Given the description of an element on the screen output the (x, y) to click on. 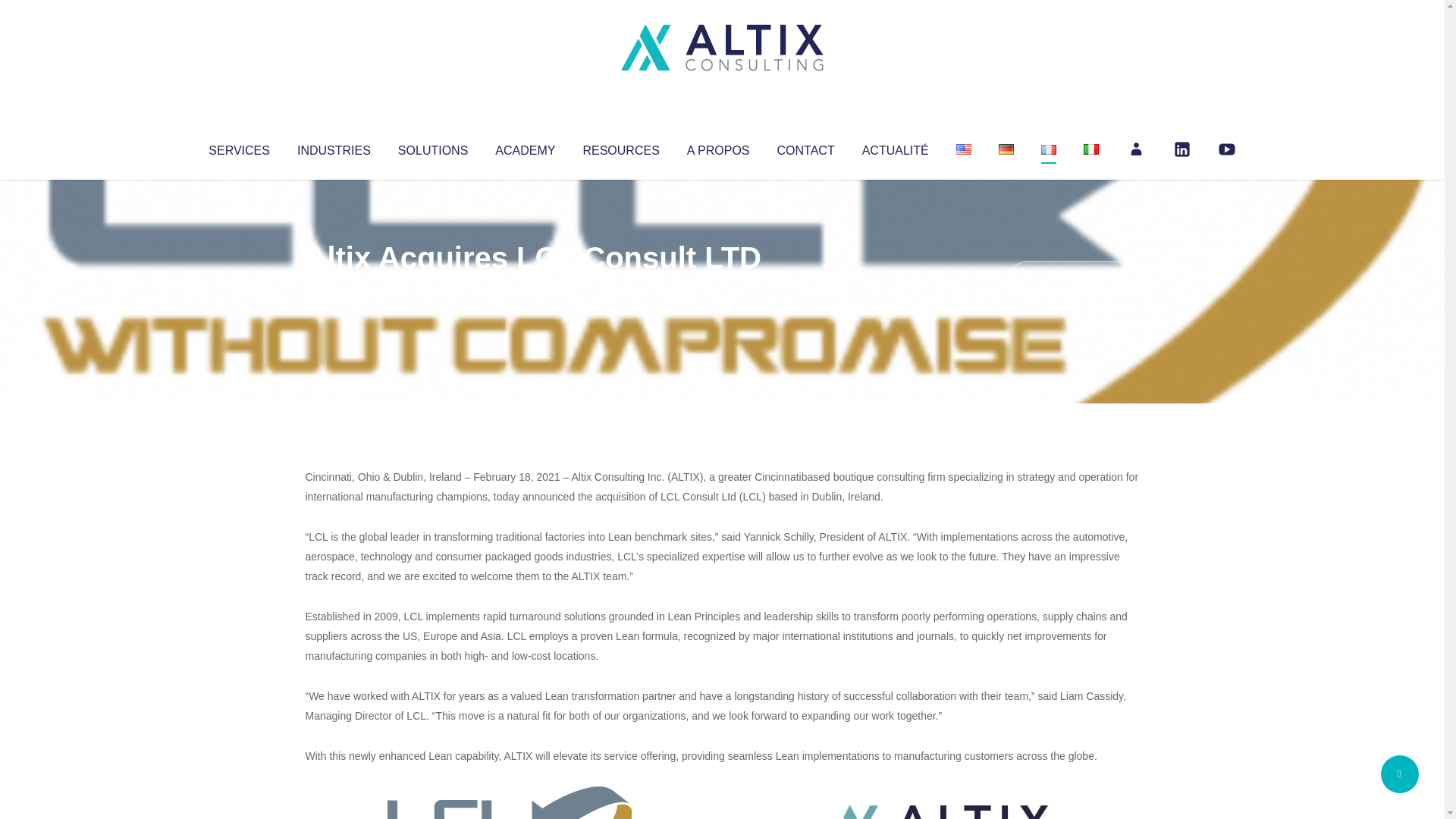
INDUSTRIES (334, 146)
SOLUTIONS (432, 146)
RESOURCES (620, 146)
No Comments (1073, 278)
A PROPOS (718, 146)
ACADEMY (524, 146)
Articles par Altix (333, 287)
Altix (333, 287)
Uncategorized (530, 287)
SERVICES (238, 146)
